Given the description of an element on the screen output the (x, y) to click on. 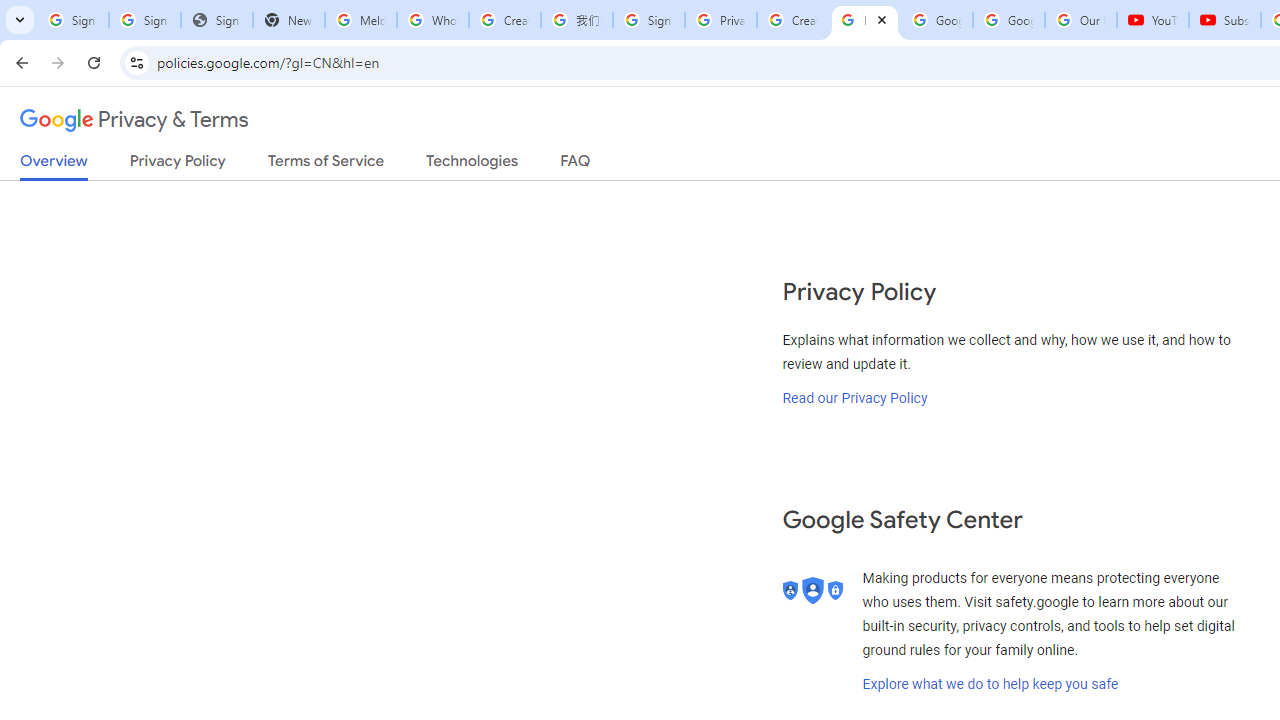
Privacy Policy (177, 165)
View site information (136, 62)
New Tab (289, 20)
Technologies (472, 165)
Sign in - Google Accounts (648, 20)
Overview (54, 166)
Terms of Service (326, 165)
FAQ (575, 165)
Google Account (1008, 20)
